Given the description of an element on the screen output the (x, y) to click on. 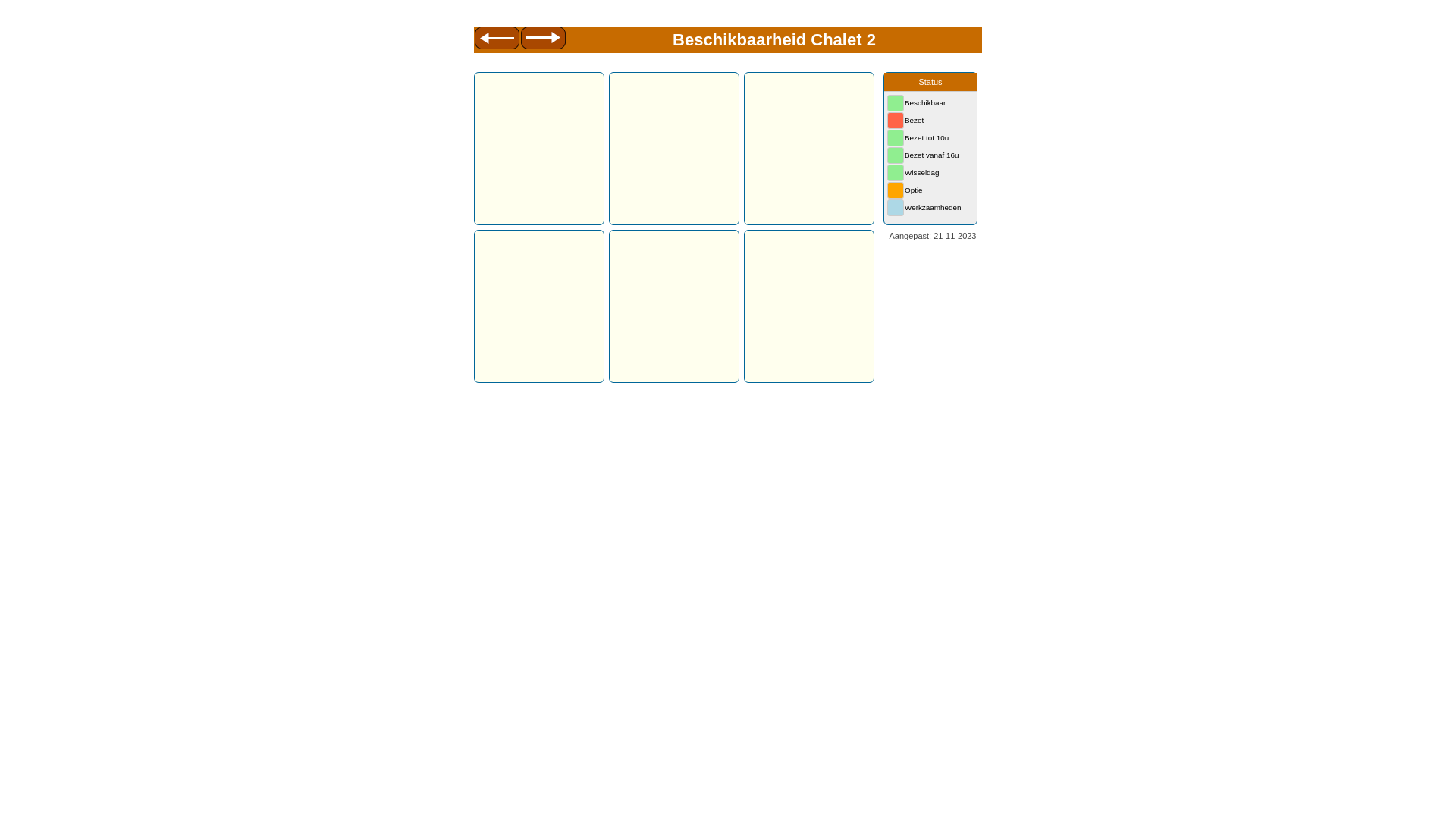
Volgende maanden Element type: hover (543, 39)
Vorige maanden Element type: hover (496, 39)
